Given the description of an element on the screen output the (x, y) to click on. 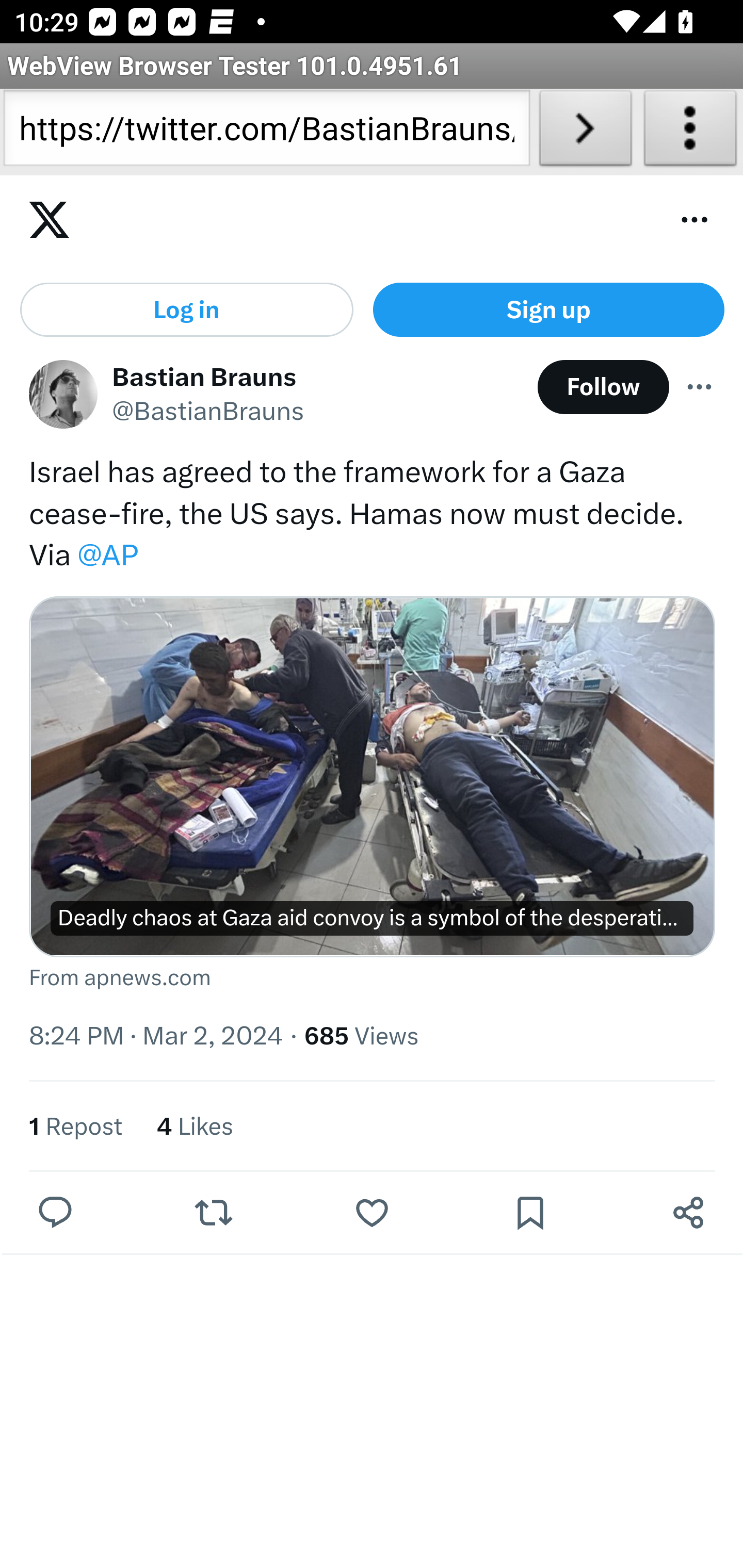
Load URL (585, 132)
About WebView (690, 132)
BastianBrauns (63, 395)
Bastian Brauns (204, 377)
Follow @BastianBrauns (602, 388)
More (699, 388)
@BastianBrauns (208, 413)
@AP (106, 556)
From apnews.com From  apnews.com (372, 979)
8:24 PM · Mar 2, 2024 (155, 1036)
1 Repost 1   Repost (75, 1127)
4 Likes 4   Likes (194, 1127)
Reply (55, 1212)
Repost (212, 1212)
Like (371, 1212)
0 Bookmarks. Bookmark (534, 1212)
Share post (688, 1212)
